Given the description of an element on the screen output the (x, y) to click on. 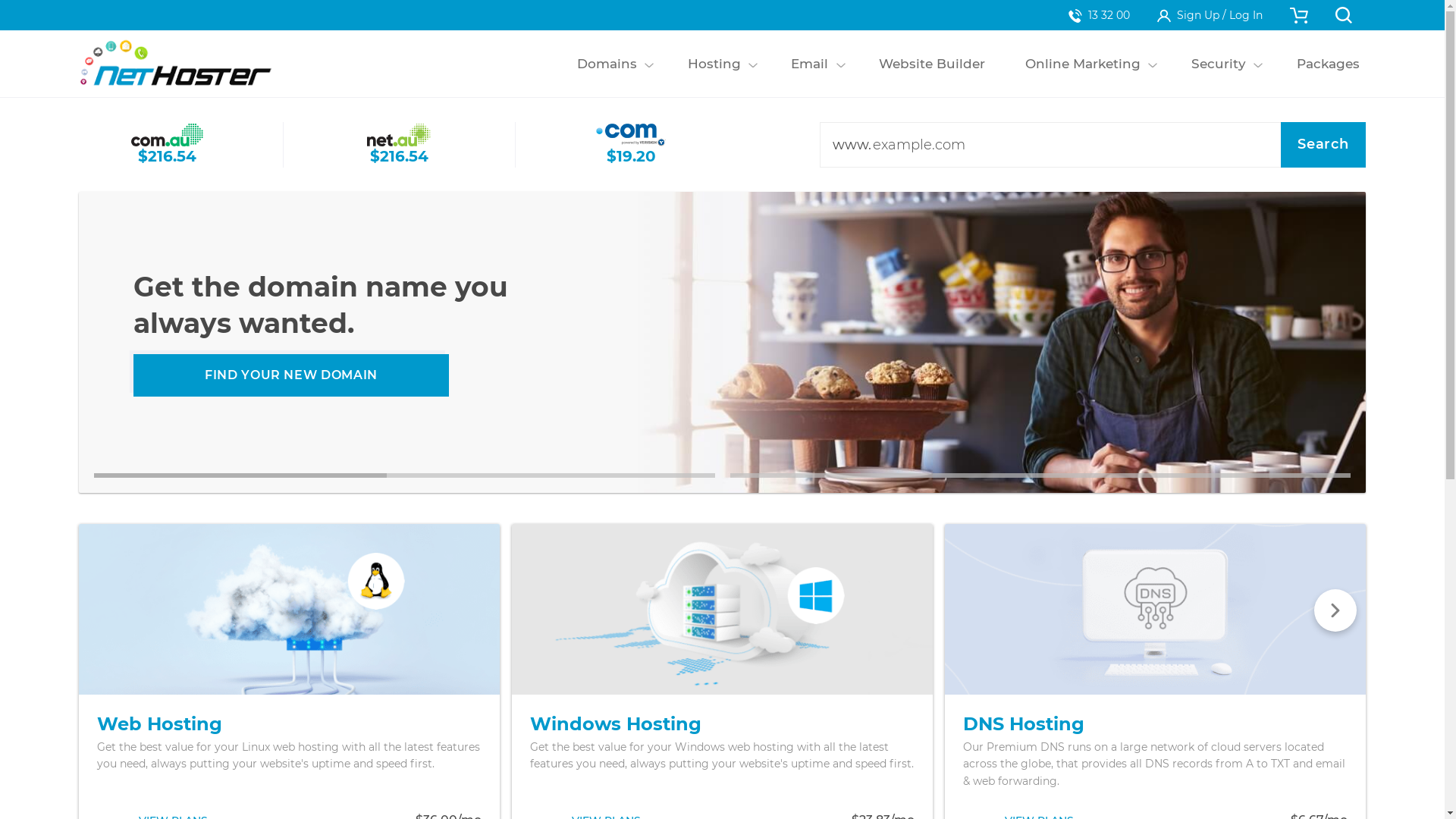
Search Element type: text (1322, 144)
Packages Element type: text (1327, 63)
Security Element type: text (1218, 63)
Hosting Element type: text (713, 63)
Website Builder Element type: text (931, 63)
Domains Element type: text (607, 63)
Email Element type: text (809, 63)
BUILD NOW Element type: text (290, 375)
Online Marketing Element type: text (1083, 63)
